Given the description of an element on the screen output the (x, y) to click on. 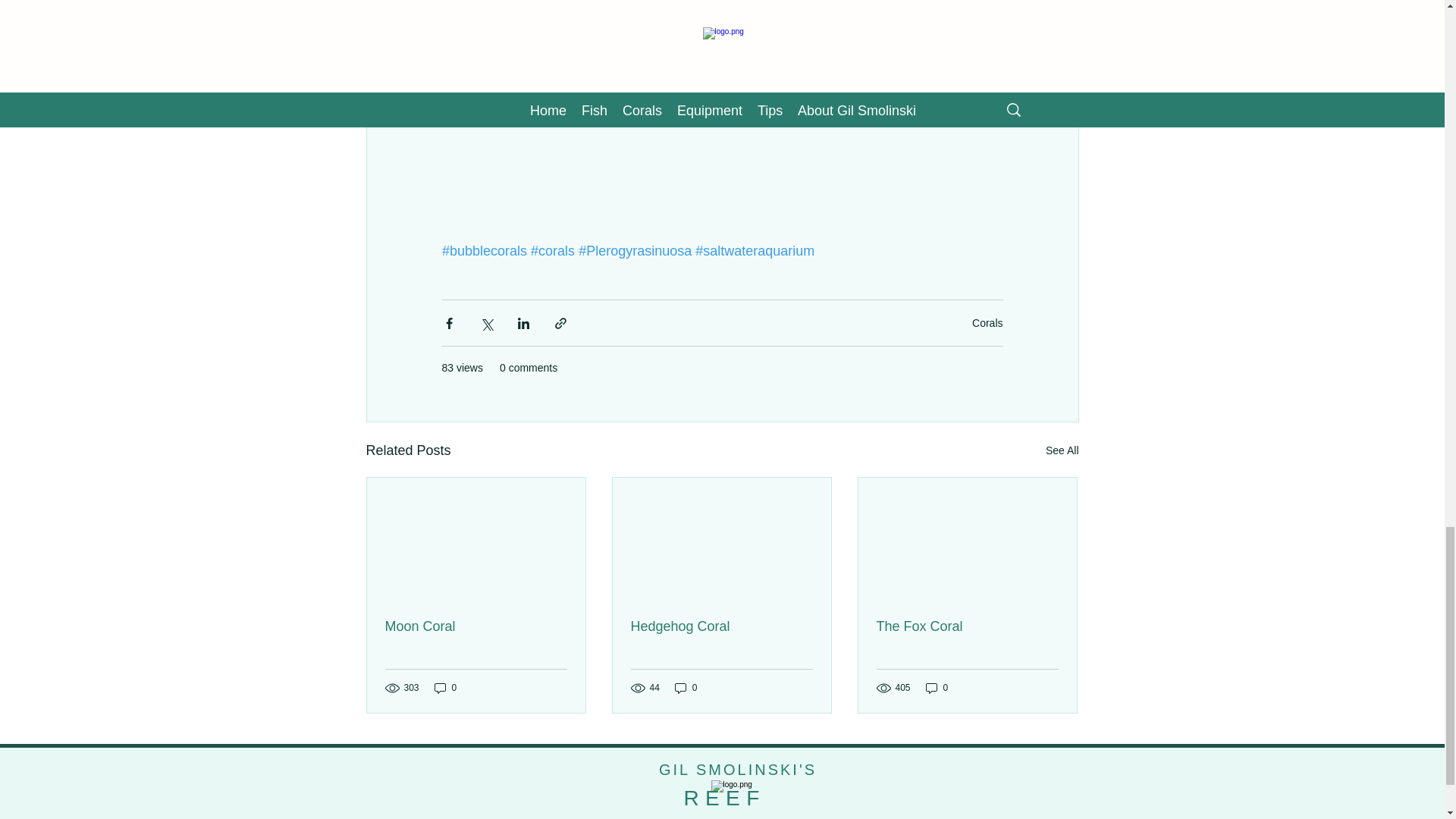
See All (1061, 450)
0 (937, 687)
The Fox Coral (967, 626)
Corals (987, 322)
0 (685, 687)
Moon Coral (476, 626)
Hedgehog Coral (721, 626)
0 (445, 687)
